Given the description of an element on the screen output the (x, y) to click on. 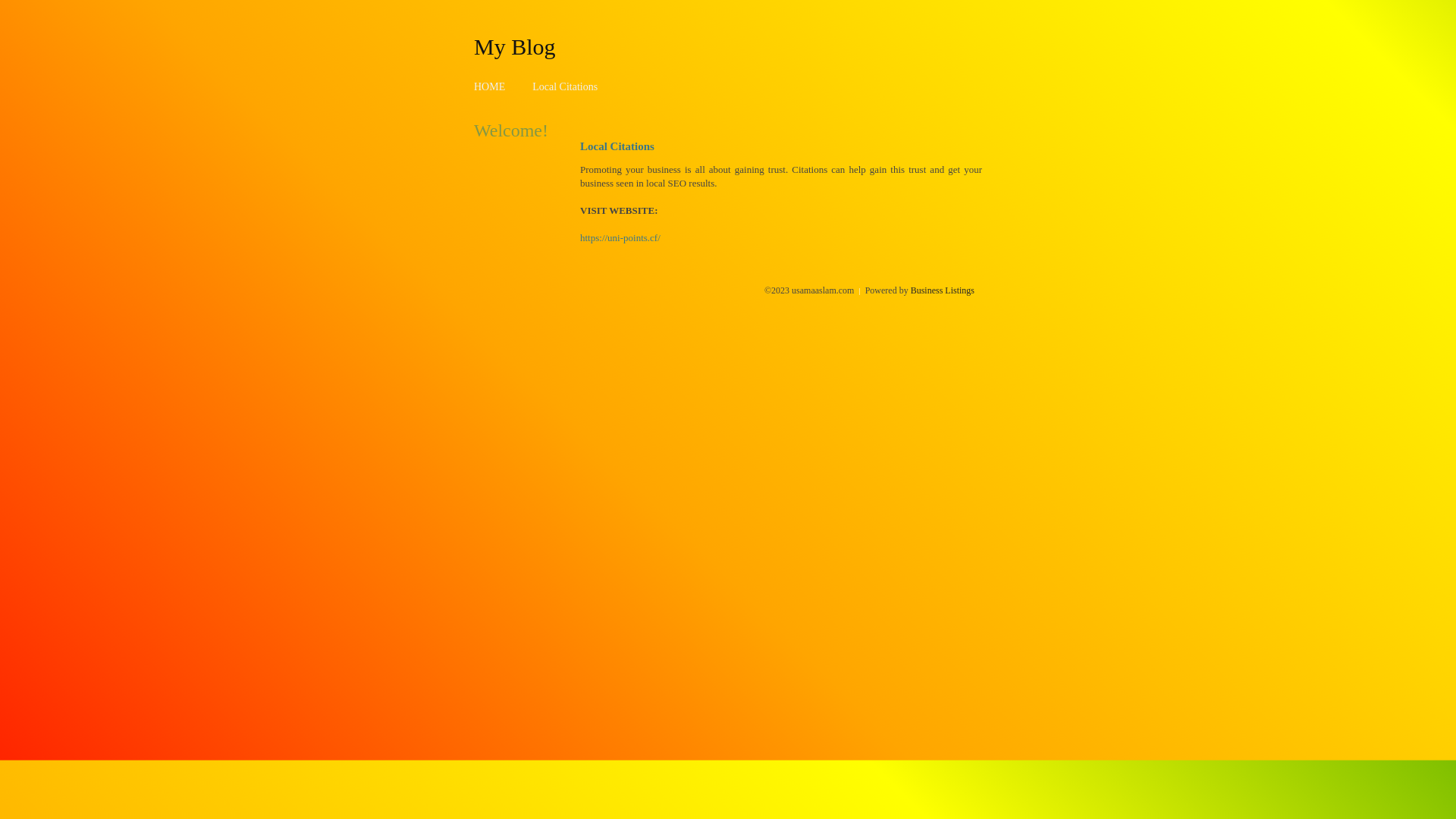
HOME Element type: text (489, 86)
Local Citations Element type: text (564, 86)
Business Listings Element type: text (942, 290)
https://uni-points.cf/ Element type: text (620, 237)
My Blog Element type: text (514, 46)
